Given the description of an element on the screen output the (x, y) to click on. 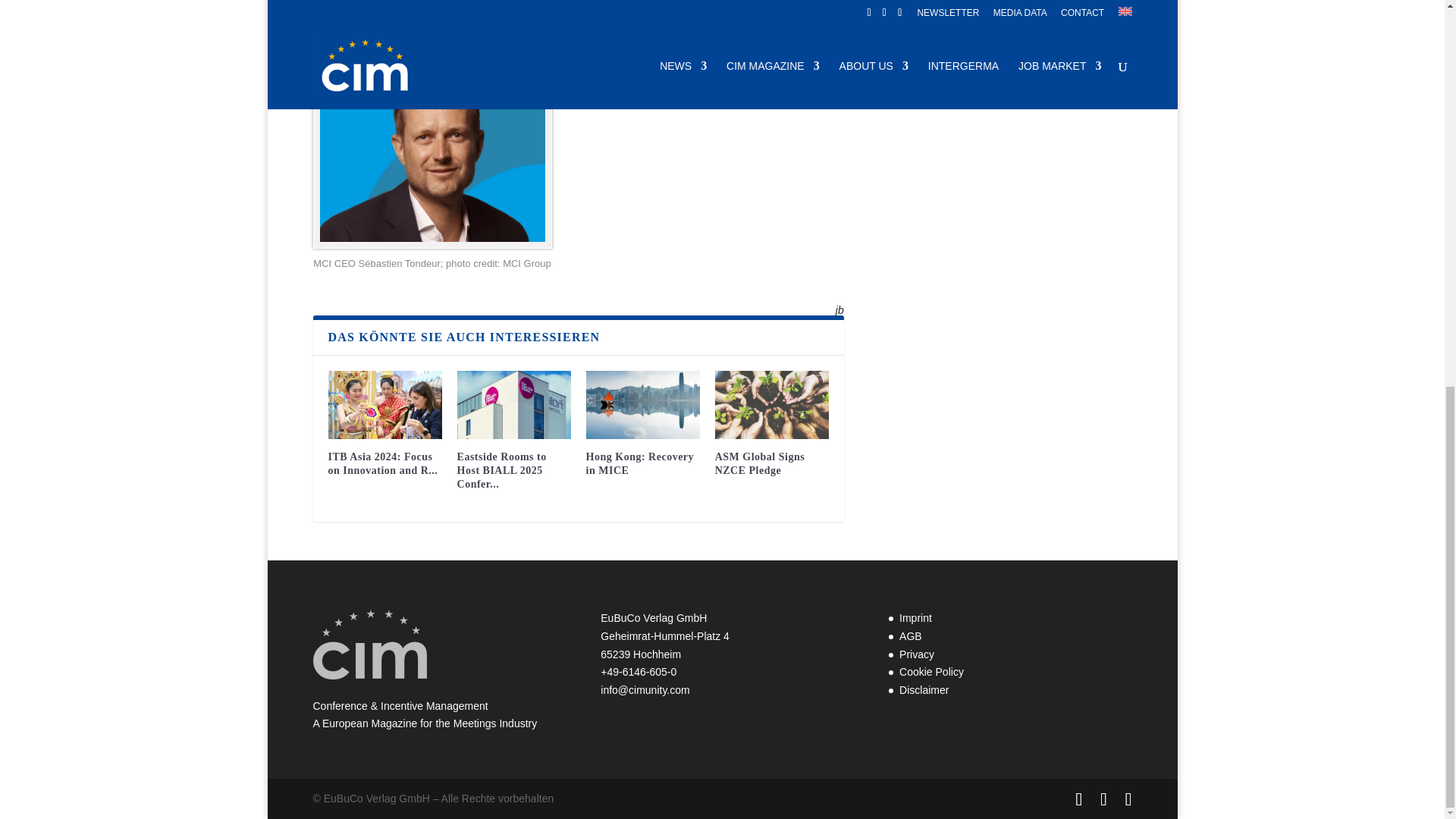
ASM Global Signs NZCE Pledge (771, 404)
ITB Asia 2024: Focus on Innovation and Resilience (384, 404)
Hong Kong: Recovery in MICE (643, 404)
Eastside Rooms to Host BIALL 2025 Conference in Birmingham (513, 404)
